Given the description of an element on the screen output the (x, y) to click on. 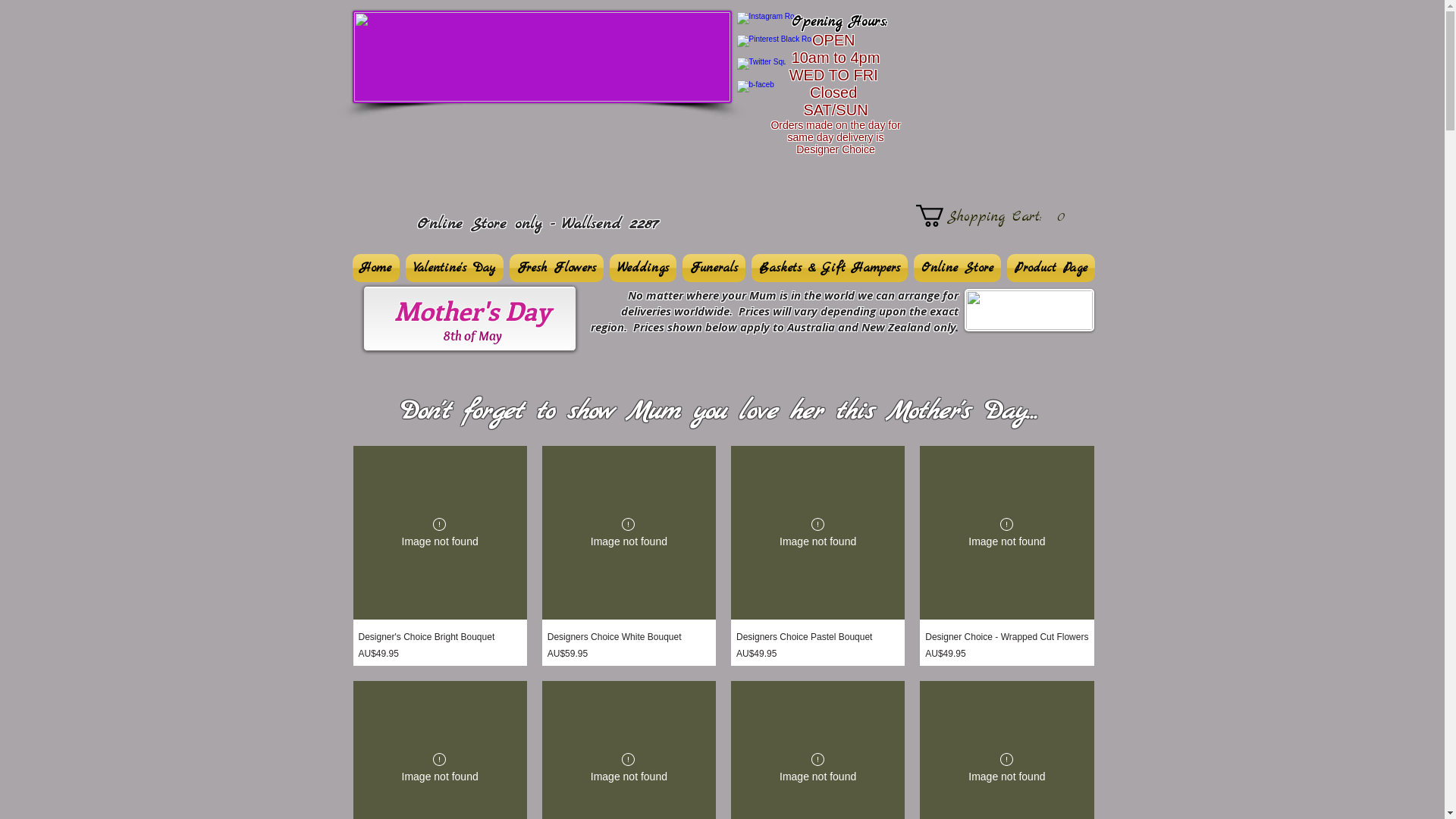
Designers Choice White Bouquet
Price
AU$59.95 Element type: text (628, 645)
Site Search Element type: hover (999, 30)
Designer Choice - Wrapped Cut Flowers
Price
AU$49.95 Element type: text (1006, 645)
Baskets & Gift Hampers Element type: text (828, 268)
Funerals Element type: text (713, 268)
Designers Choice Pastel Bouquet
Price
AU$49.95 Element type: text (817, 645)
Designers Choice Pastel Bouquet
Image not found Element type: text (817, 532)
Home Element type: text (376, 268)
Online Store Element type: text (956, 268)
Product Page Element type: text (1049, 268)
Designer's Choice Bright Bouquet
Image not found Element type: text (440, 532)
Designers Choice White Bouquet
Image not found Element type: text (628, 532)
Fresh Flowers Element type: text (556, 268)
Designer Choice - Wrapped Cut Flowers
Image not found Element type: text (1006, 532)
Valentine's Day Element type: text (453, 268)
Designer's Choice Bright Bouquet
Price
AU$49.95 Element type: text (438, 645)
Shopping Cart:
0 Element type: text (995, 215)
signs.jpg Element type: hover (541, 56)
Weddings Element type: text (642, 268)
